Given the description of an element on the screen output the (x, y) to click on. 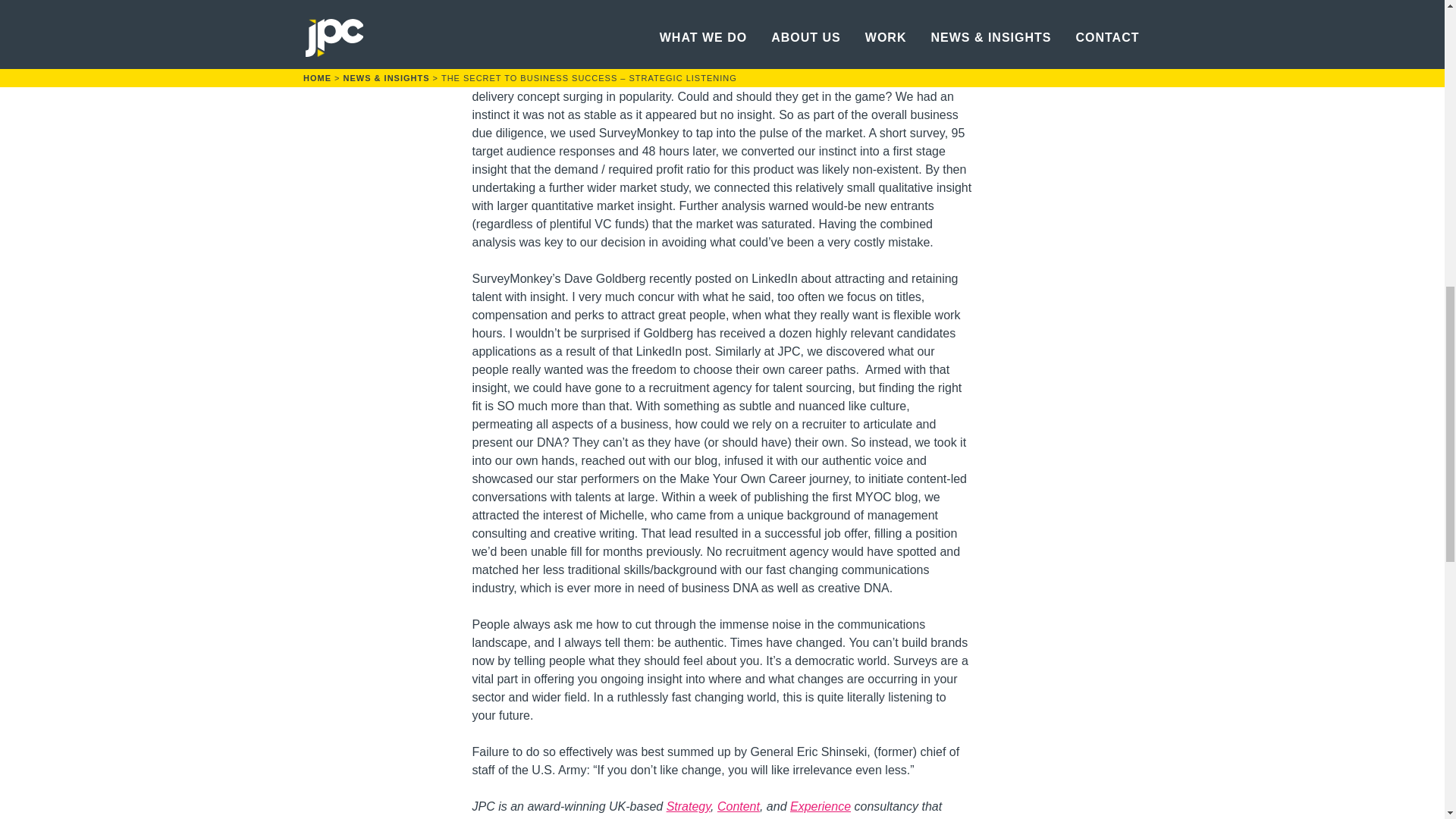
Content (738, 806)
Strategy (688, 806)
Experience (820, 806)
